Given the description of an element on the screen output the (x, y) to click on. 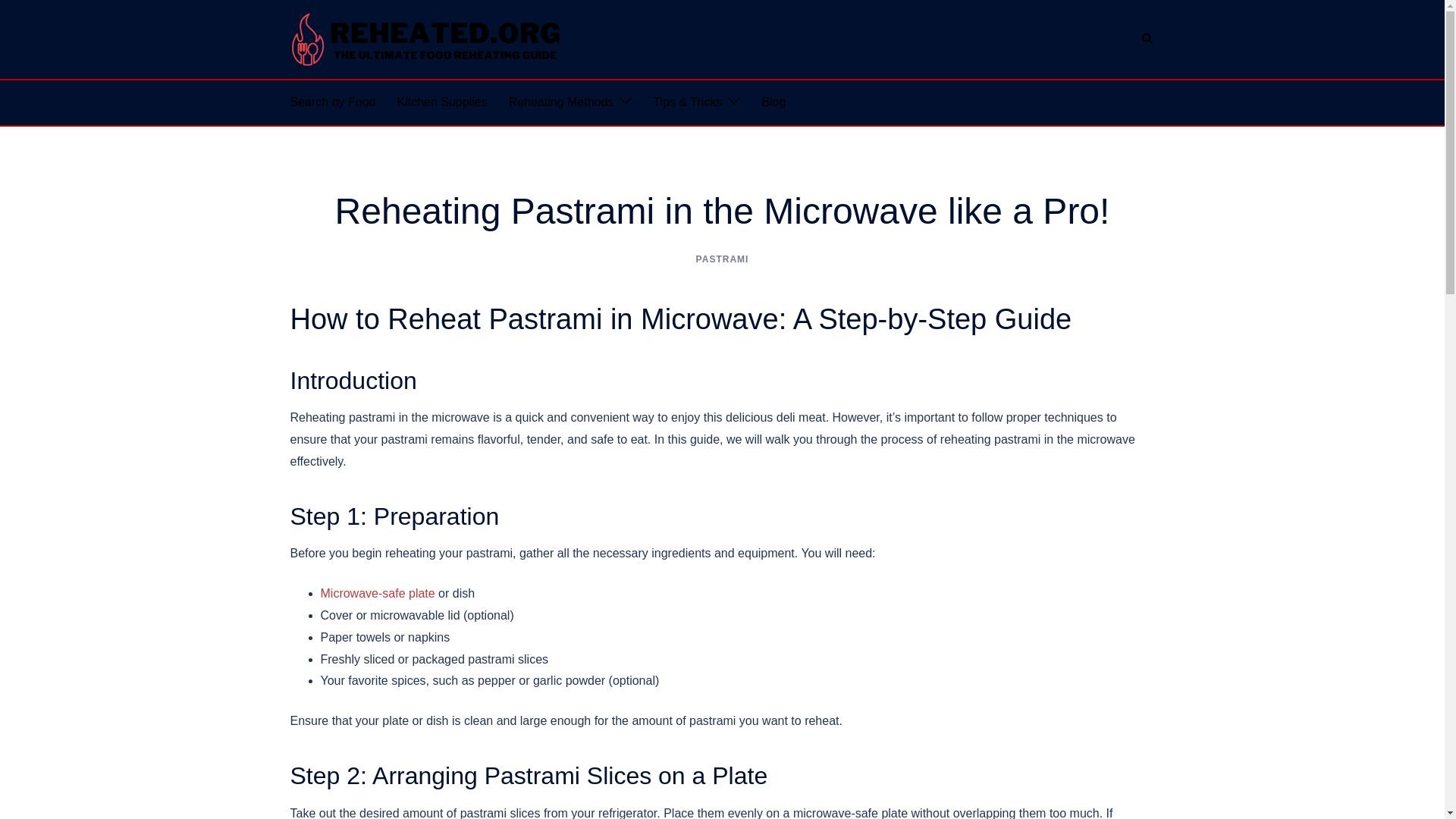
Microwave-safe plate (376, 593)
Reheated.org (425, 38)
Search (1147, 39)
Search by Food (332, 102)
Reheating Methods (561, 102)
Kitchen Supplies (441, 102)
Blog (773, 102)
